Given the description of an element on the screen output the (x, y) to click on. 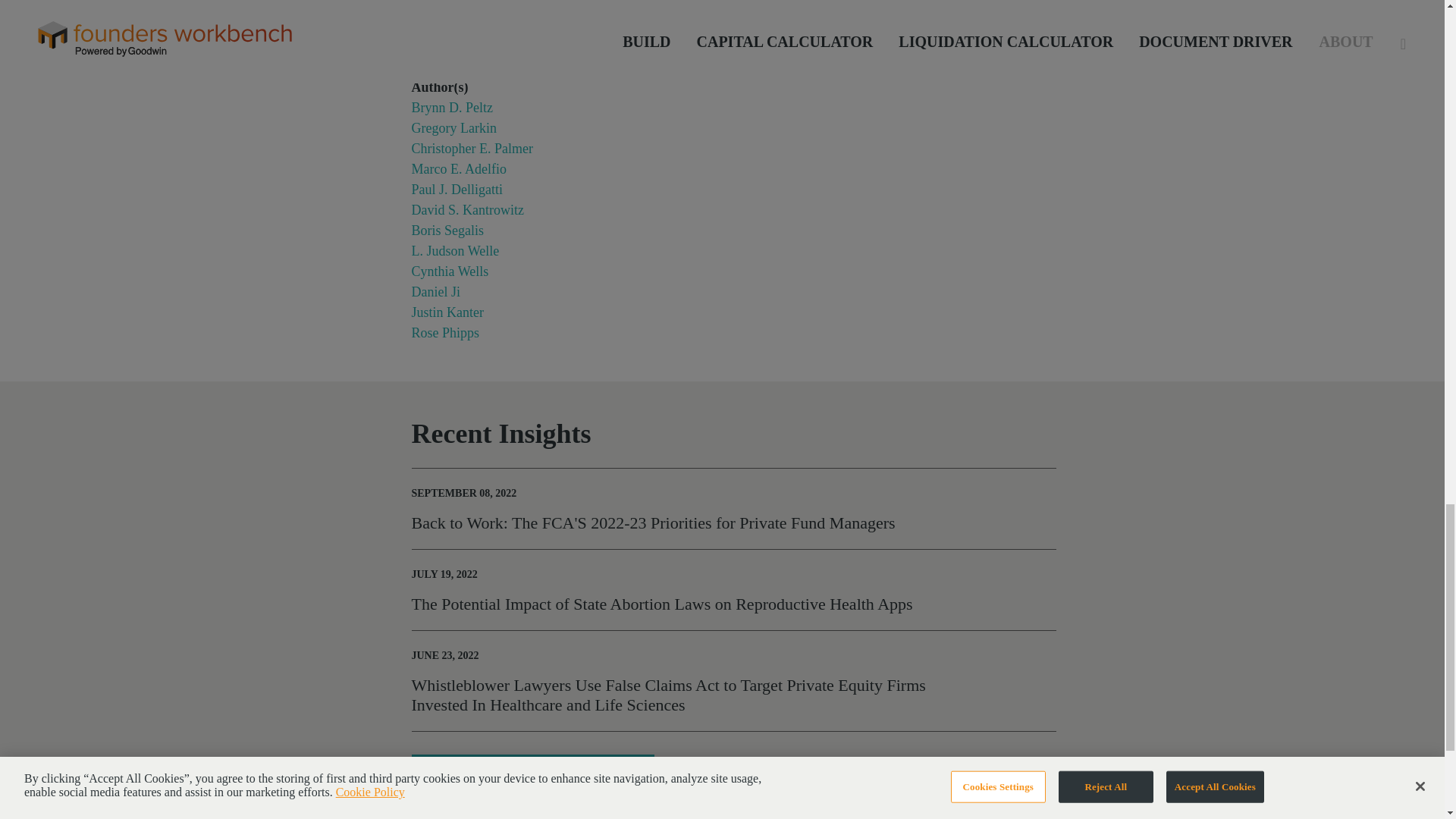
Brynn D. Peltz (451, 107)
Gregory Larkin (453, 127)
